Given the description of an element on the screen output the (x, y) to click on. 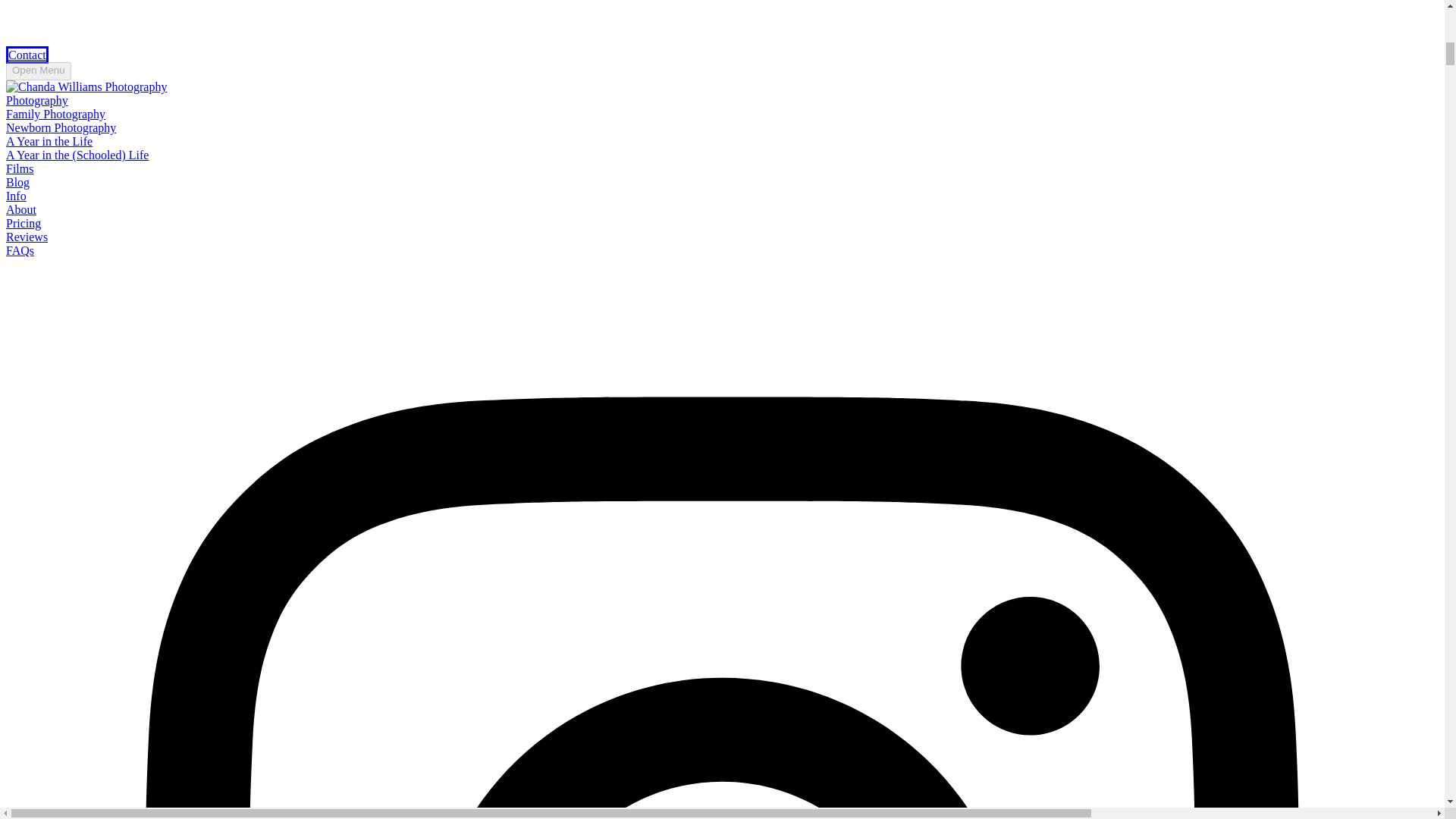
Family Photography (54, 113)
About (20, 209)
Open Menu (38, 71)
Pricing (22, 223)
Info (15, 195)
A Year in the Life (49, 141)
FAQs (19, 250)
Photography (36, 100)
Films (19, 168)
Contact (26, 54)
Reviews (26, 236)
Newborn Photography (60, 127)
Blog (17, 182)
